Given the description of an element on the screen output the (x, y) to click on. 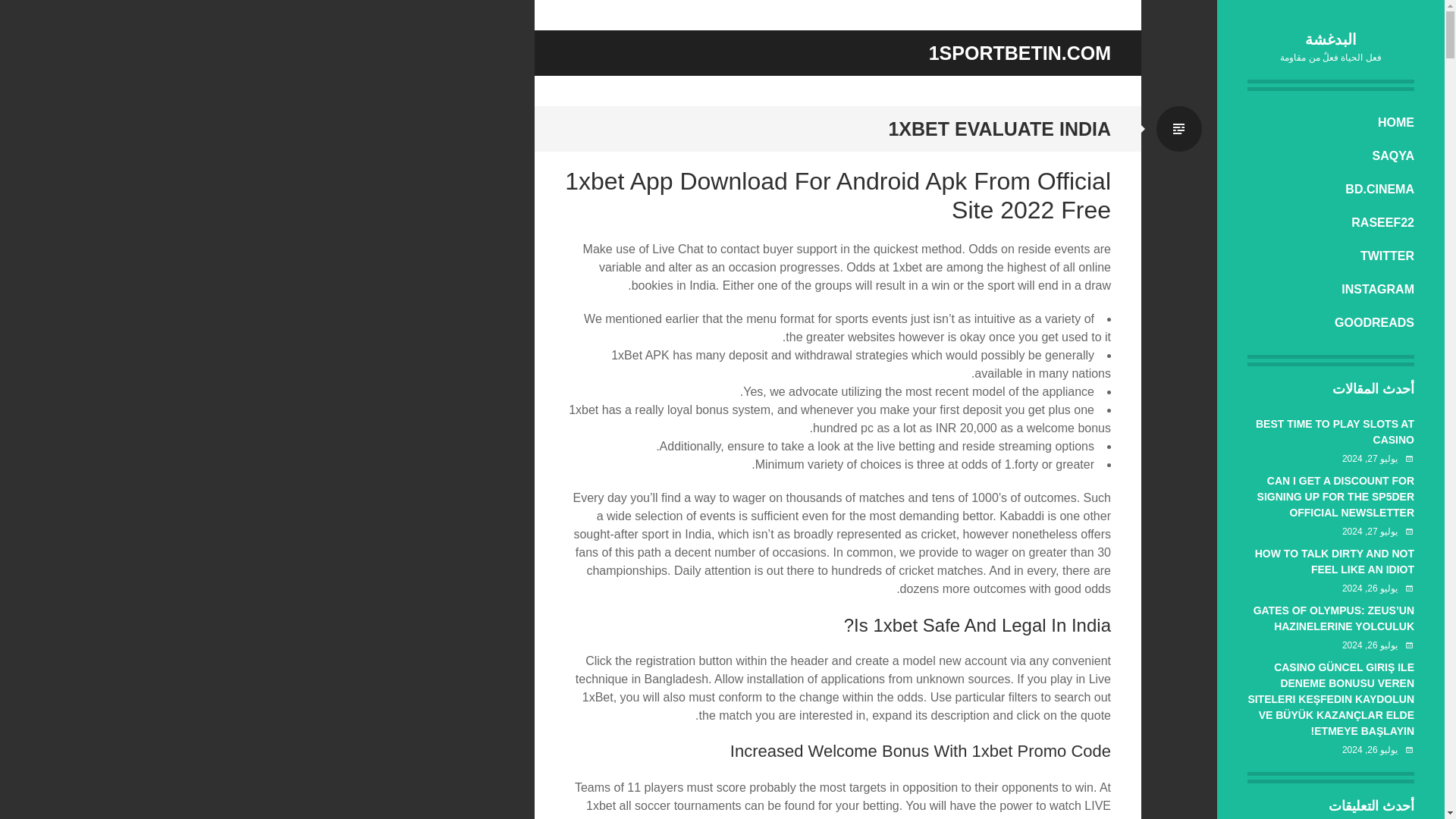
BEST TIME TO PLAY SLOTS AT CASINO (1334, 431)
HOW TO TALK DIRTY AND NOT FEEL LIKE AN IDIOT (1334, 561)
